Given the description of an element on the screen output the (x, y) to click on. 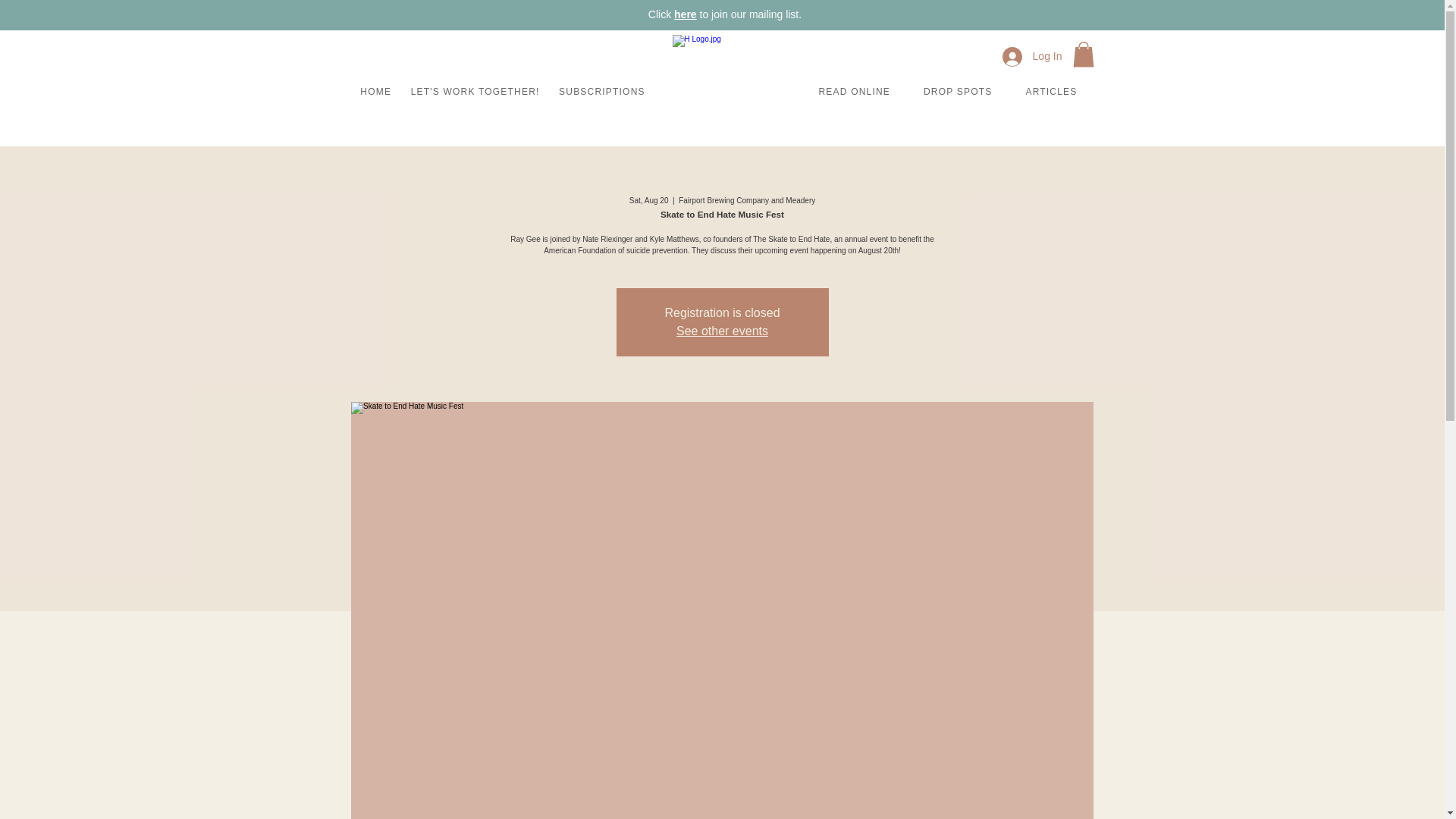
READ ONLINE (854, 92)
DROP SPOTS (958, 92)
HOME (375, 92)
Log In (1032, 56)
SUBSCRIPTIONS (600, 92)
here (685, 14)
ARTICLES (1051, 92)
See other events (722, 330)
